Given the description of an element on the screen output the (x, y) to click on. 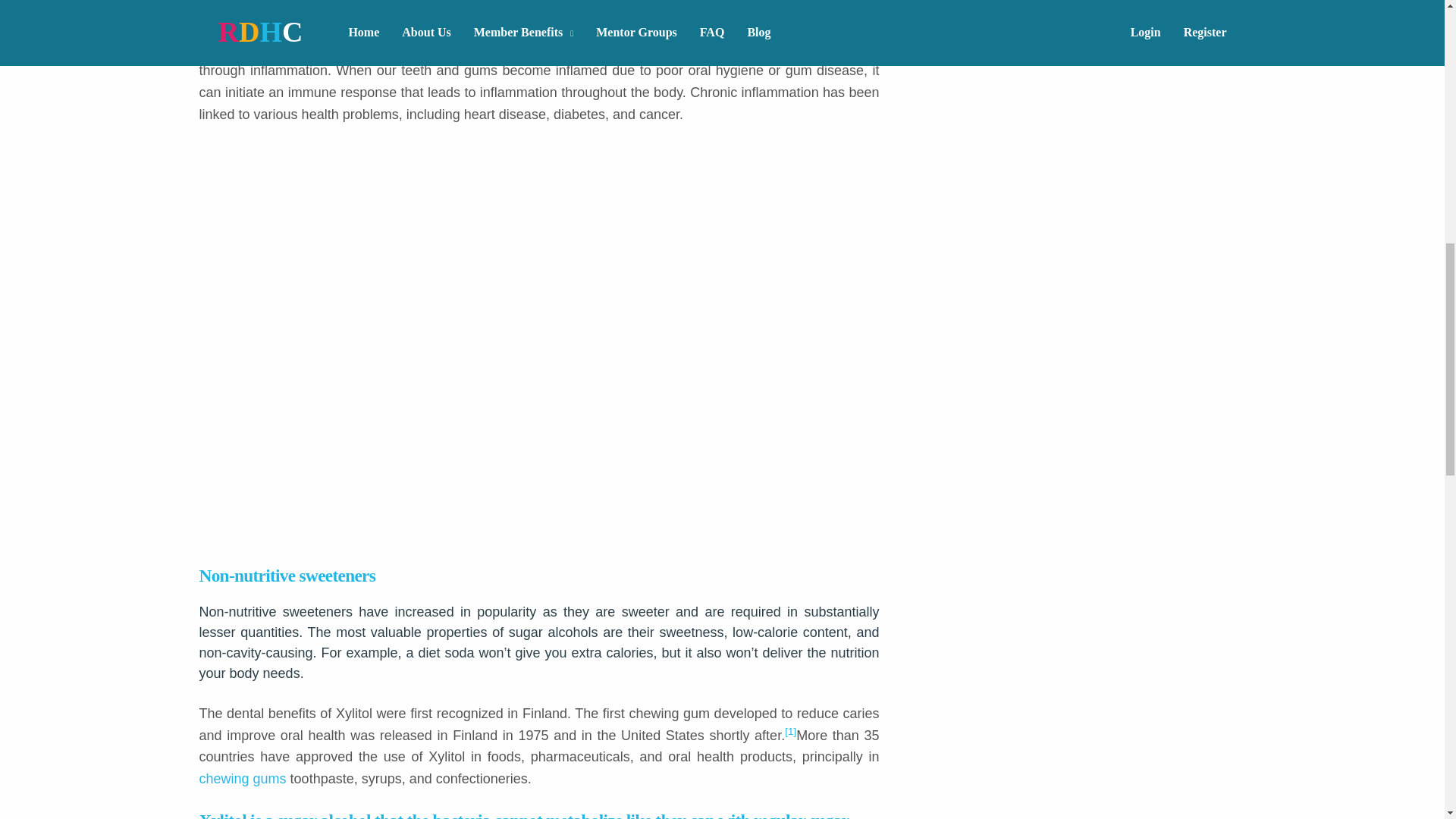
Scroll To Top (1420, 25)
chewing gums (243, 778)
